Given the description of an element on the screen output the (x, y) to click on. 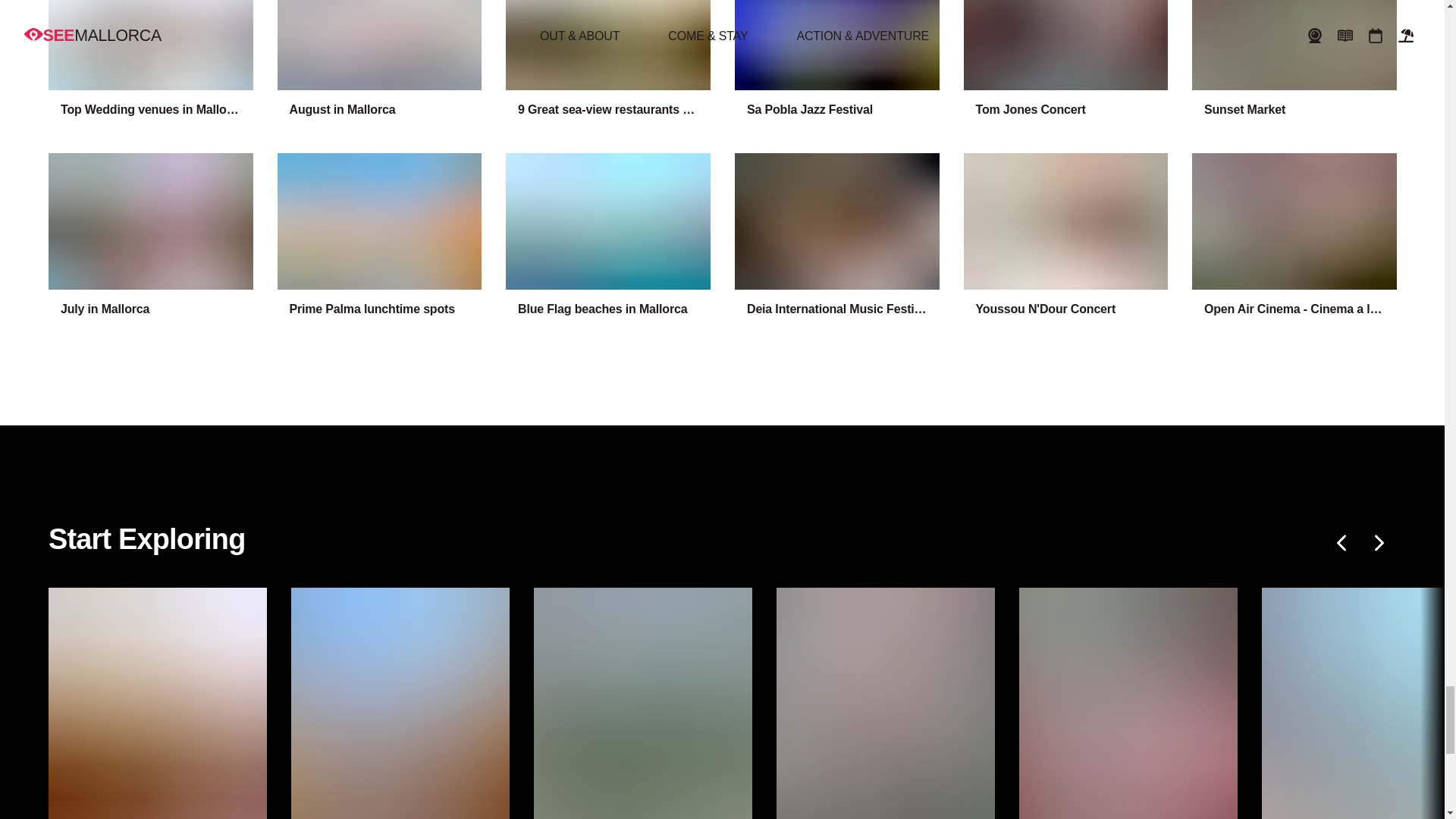
scroll left (1341, 542)
scroll right (1377, 542)
